Given the description of an element on the screen output the (x, y) to click on. 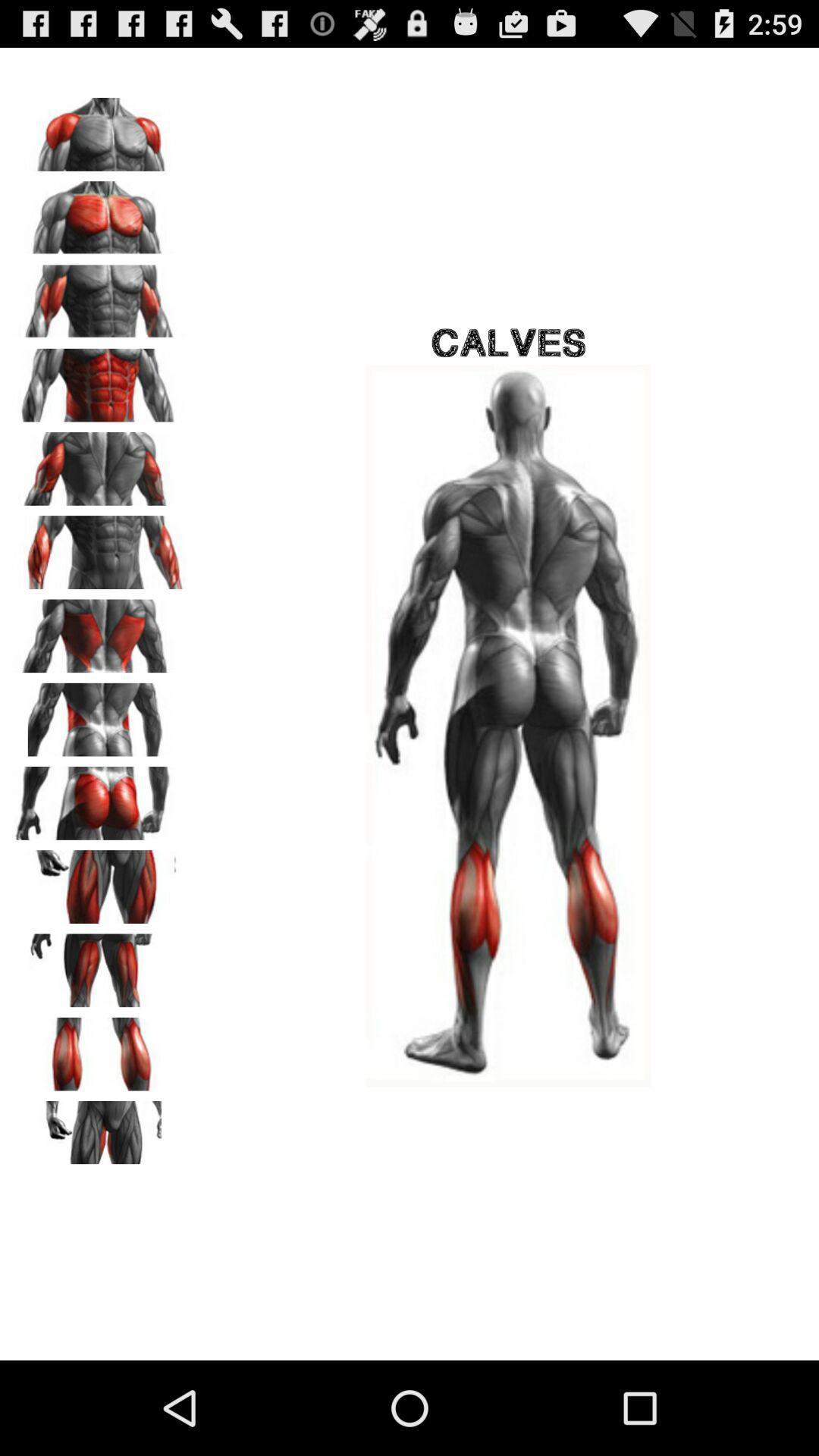
work triceps (99, 463)
